Given the description of an element on the screen output the (x, y) to click on. 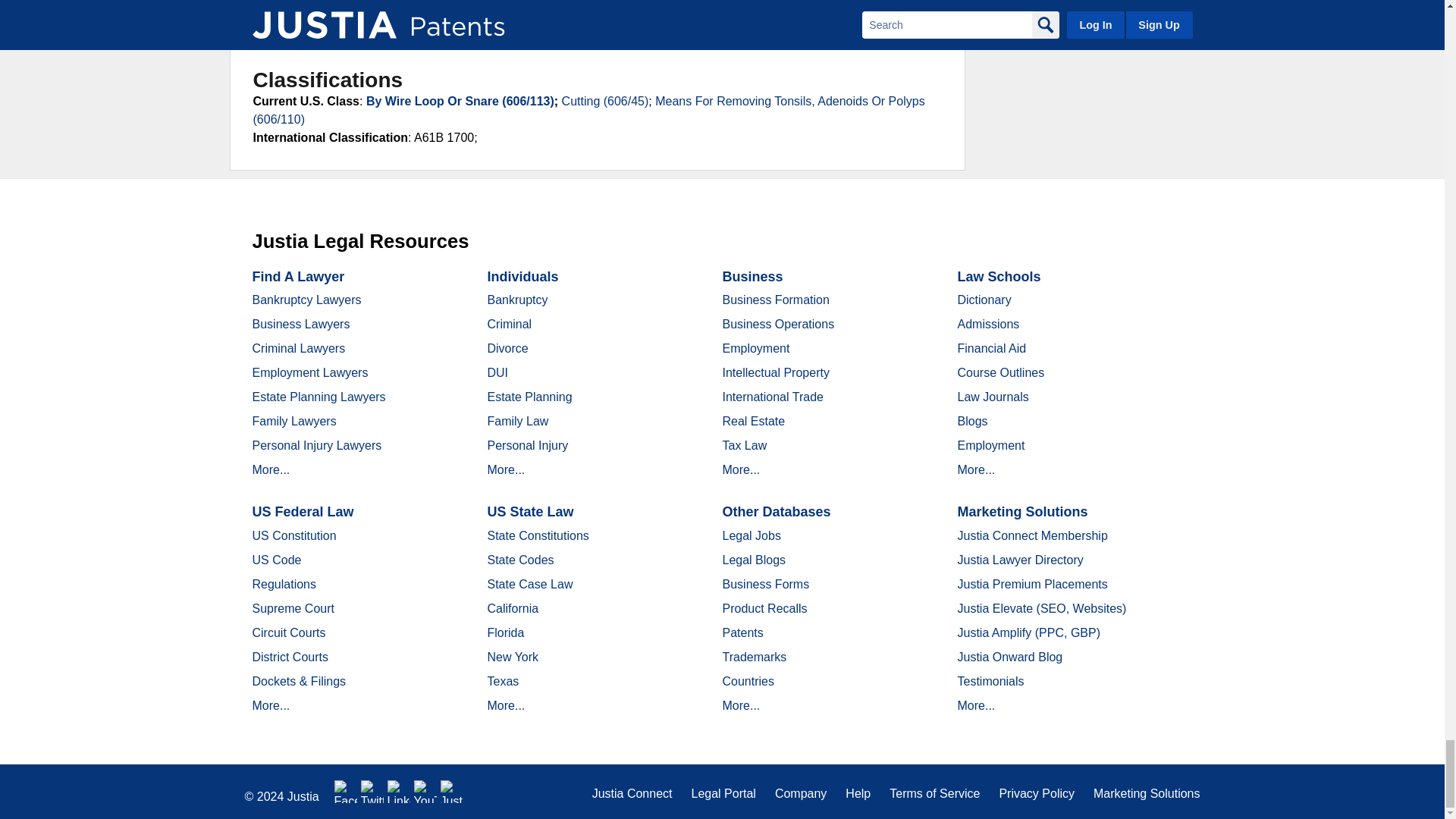
YouTube (424, 791)
Twitter (372, 791)
Justia Lawyer Directory (452, 791)
Facebook (345, 791)
LinkedIn (398, 791)
